Given the description of an element on the screen output the (x, y) to click on. 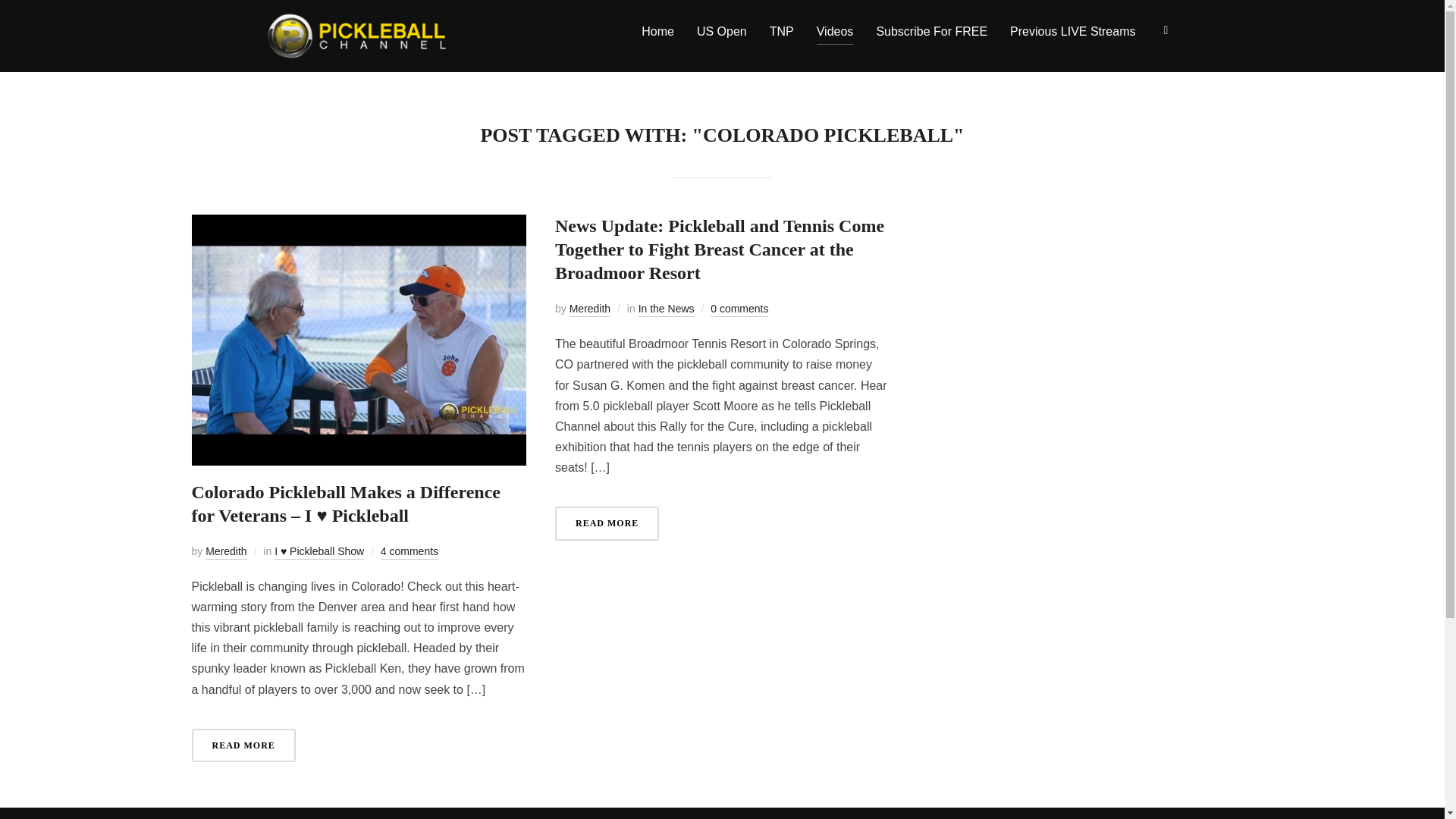
Previous LIVE Streams (1072, 31)
Meredith (225, 552)
Home (658, 31)
READ MORE (606, 522)
READ MORE (242, 745)
Videos (834, 31)
Subscribe For FREE (931, 31)
In the News (666, 309)
0 comments (739, 309)
